Given the description of an element on the screen output the (x, y) to click on. 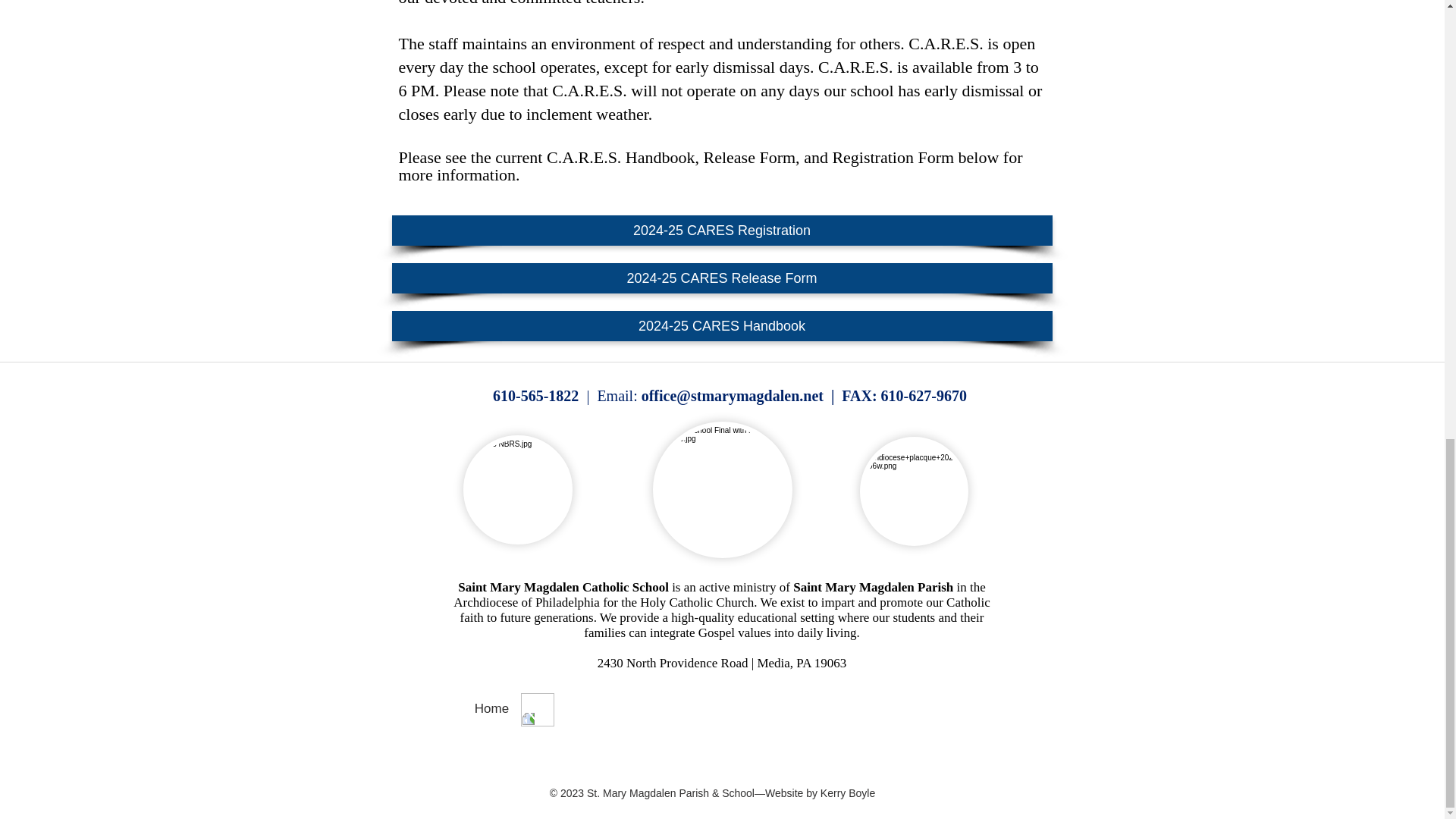
Saint Mary Magdalen Parish (873, 586)
2024-25 CARES Registration (721, 230)
2024-25 CARES Handbook (721, 326)
610-565-1822 (535, 395)
2024-25 CARES Release Form (721, 277)
